Given the description of an element on the screen output the (x, y) to click on. 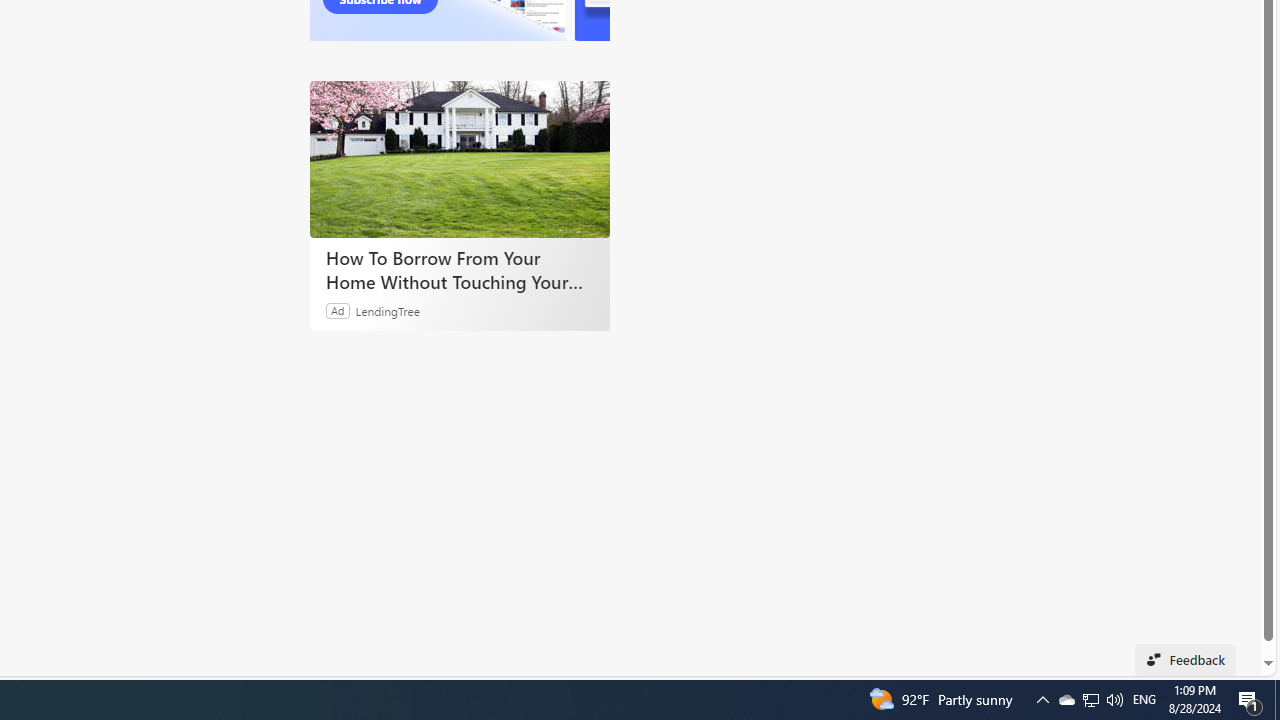
How To Borrow From Your Home Without Touching Your Mortgage (459, 159)
LendingTree (387, 309)
How To Borrow From Your Home Without Touching Your Mortgage (459, 269)
